Given the description of an element on the screen output the (x, y) to click on. 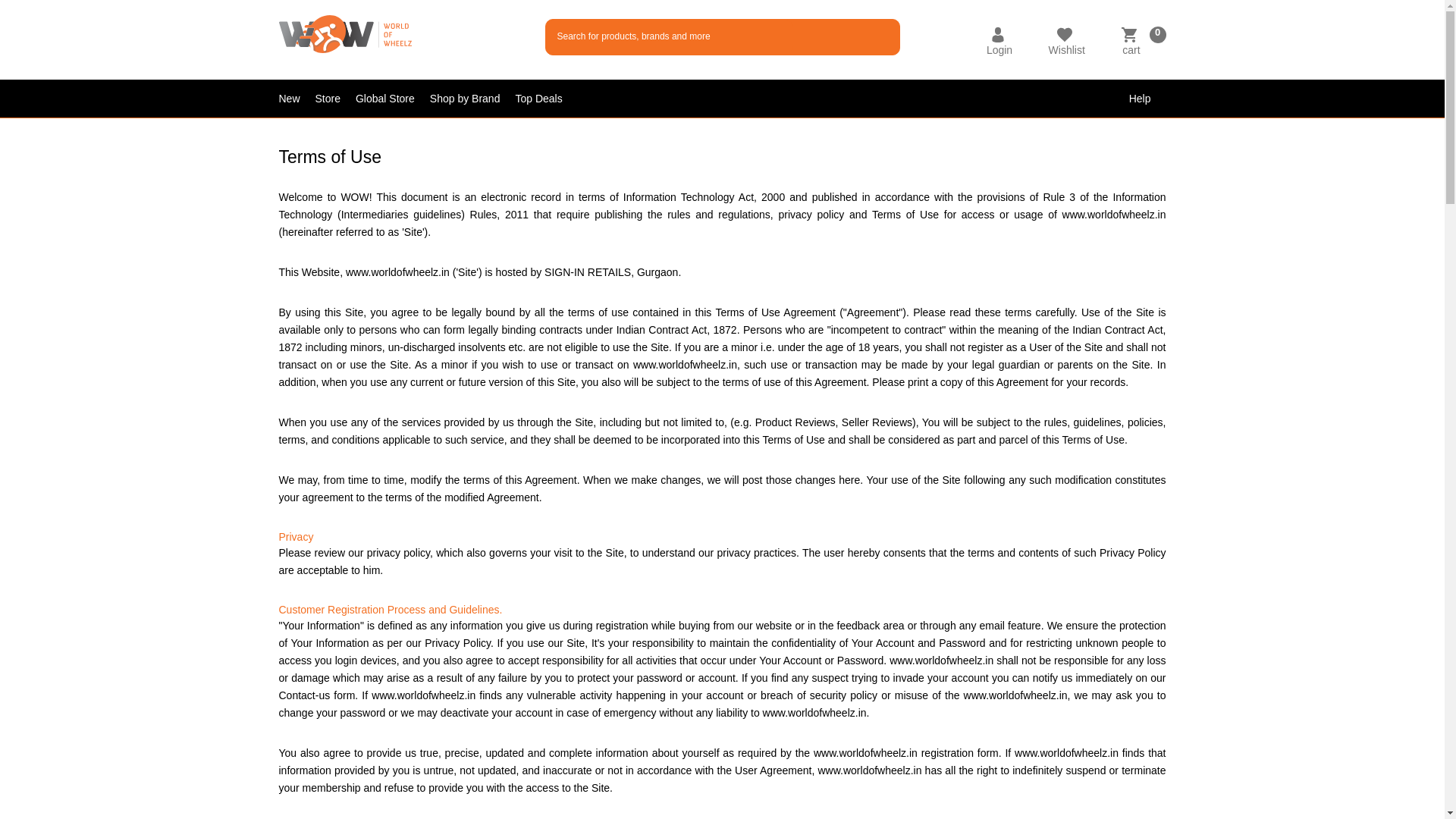
cart (1130, 49)
Wishlist (1066, 49)
Store (335, 98)
Login (999, 49)
New (297, 98)
